Given the description of an element on the screen output the (x, y) to click on. 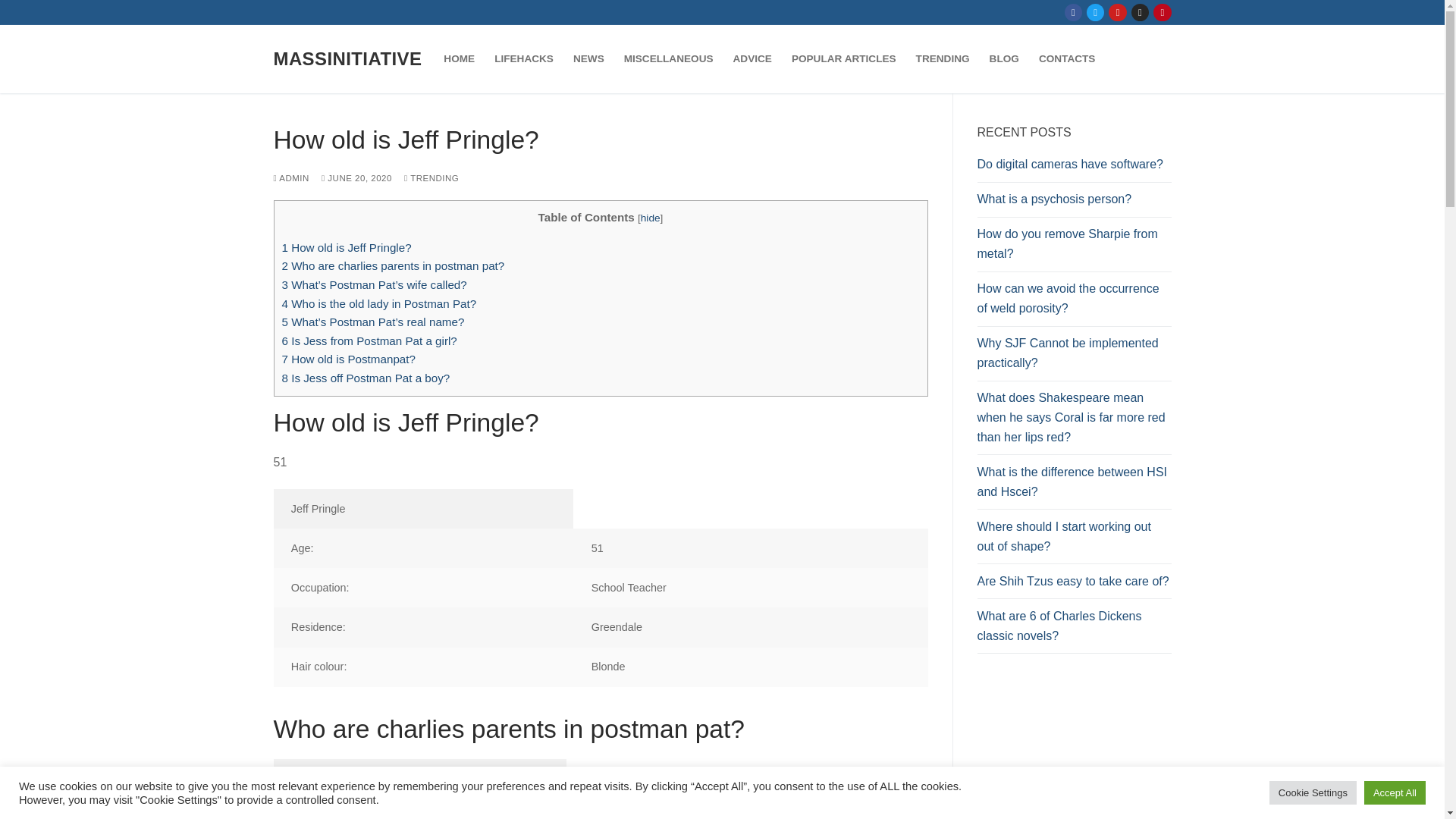
POPULAR ARTICLES (843, 59)
ADMIN (290, 177)
CONTACTS (1067, 59)
hide (650, 217)
Instagram (1139, 12)
Facebook (1073, 12)
1 How old is Jeff Pringle? (347, 246)
7 How old is Postmanpat? (348, 358)
LIFEHACKS (523, 59)
Pinterest (1162, 12)
